Given the description of an element on the screen output the (x, y) to click on. 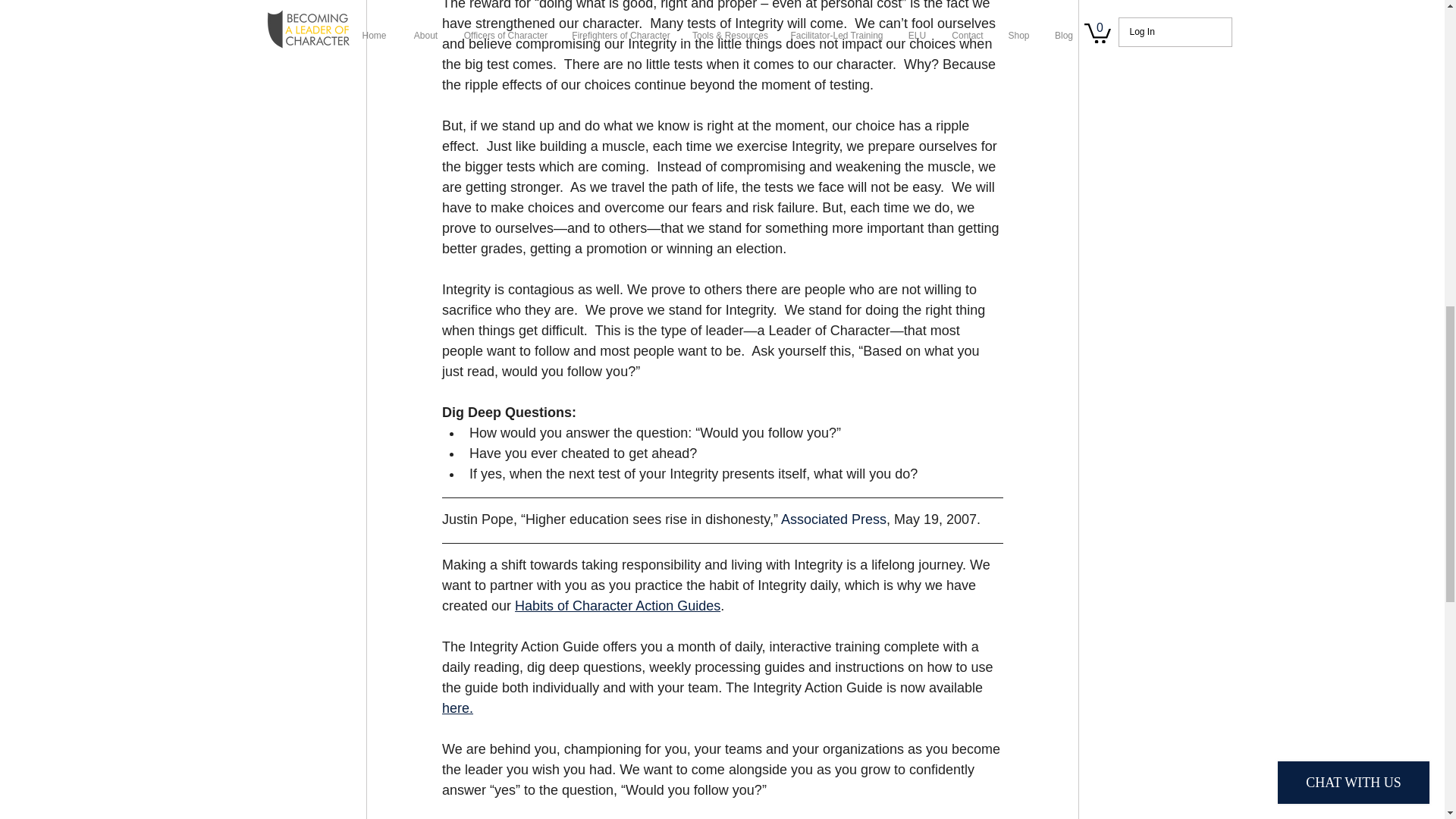
Habits of Character Action Guides (617, 605)
here. (456, 708)
Associated Press (832, 519)
